Given the description of an element on the screen output the (x, y) to click on. 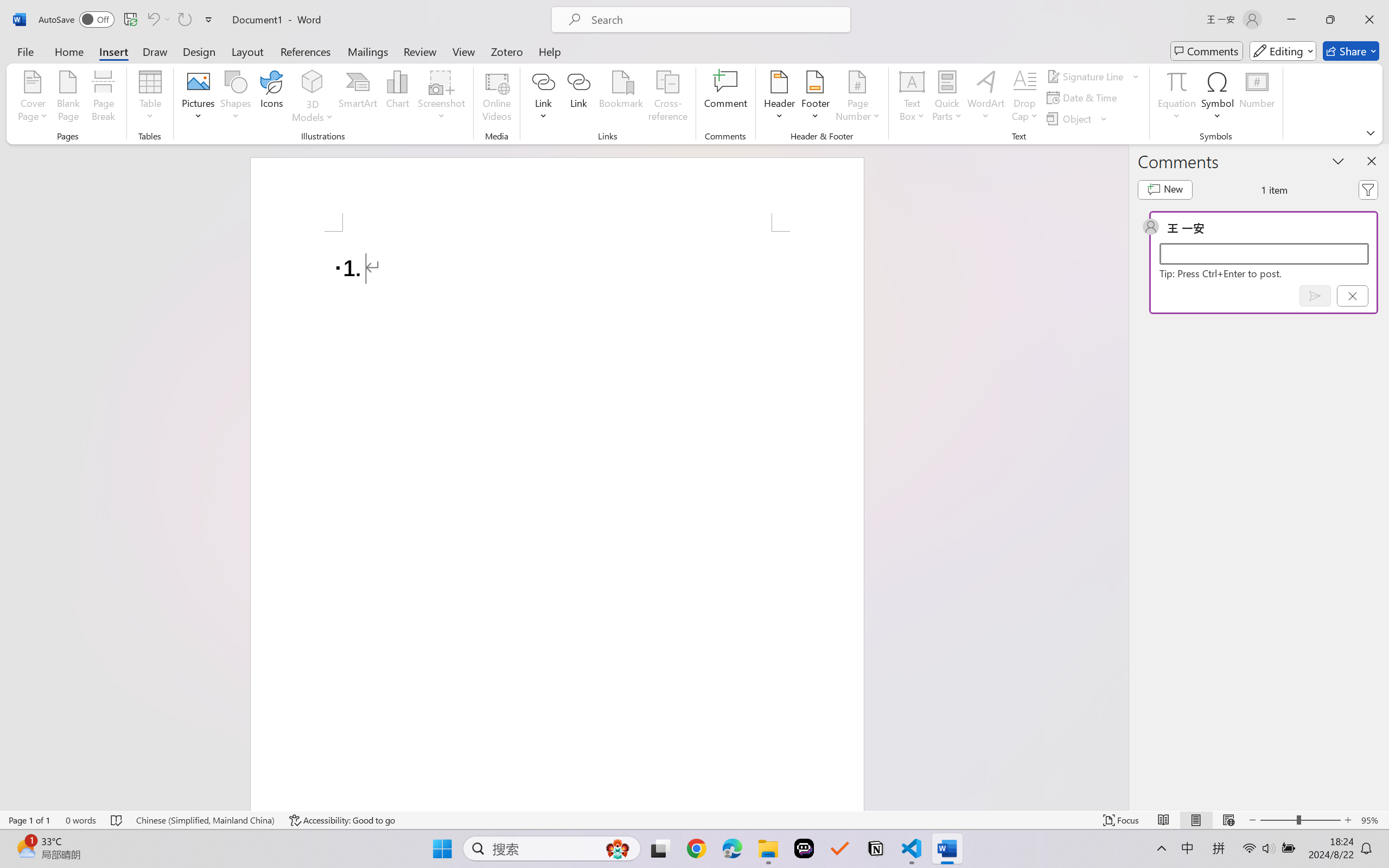
Page Break (103, 97)
Filter (1367, 189)
Header (779, 97)
Object... (1070, 118)
Table (149, 97)
Page Number (857, 97)
Link (543, 97)
Shapes (235, 97)
Undo Number Default (152, 19)
